Given the description of an element on the screen output the (x, y) to click on. 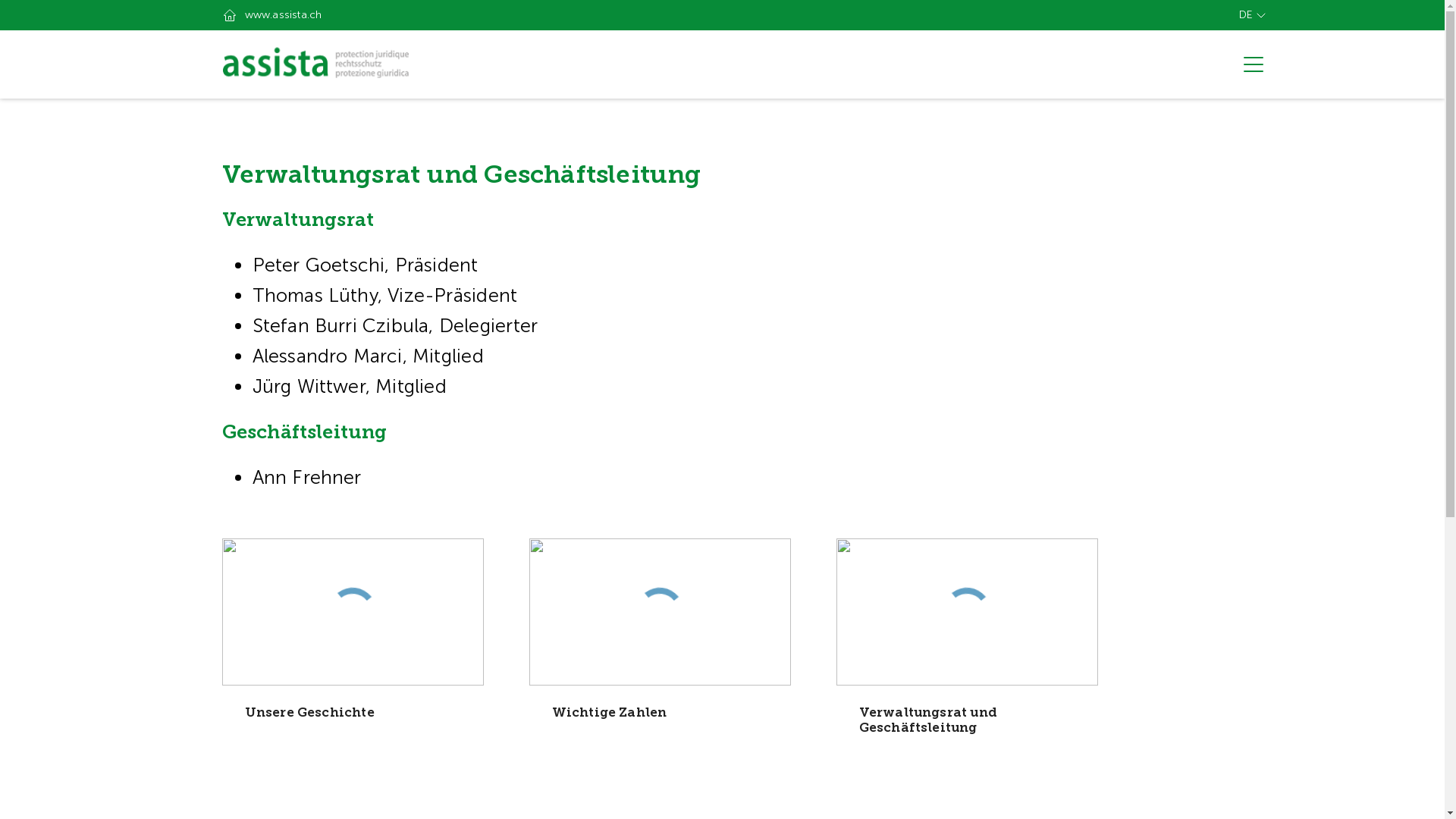
Unsere Geschichte Element type: text (352, 653)
www.assista.ch Element type: text (271, 14)
Wichtige Zahlen Element type: text (659, 653)
